Given the description of an element on the screen output the (x, y) to click on. 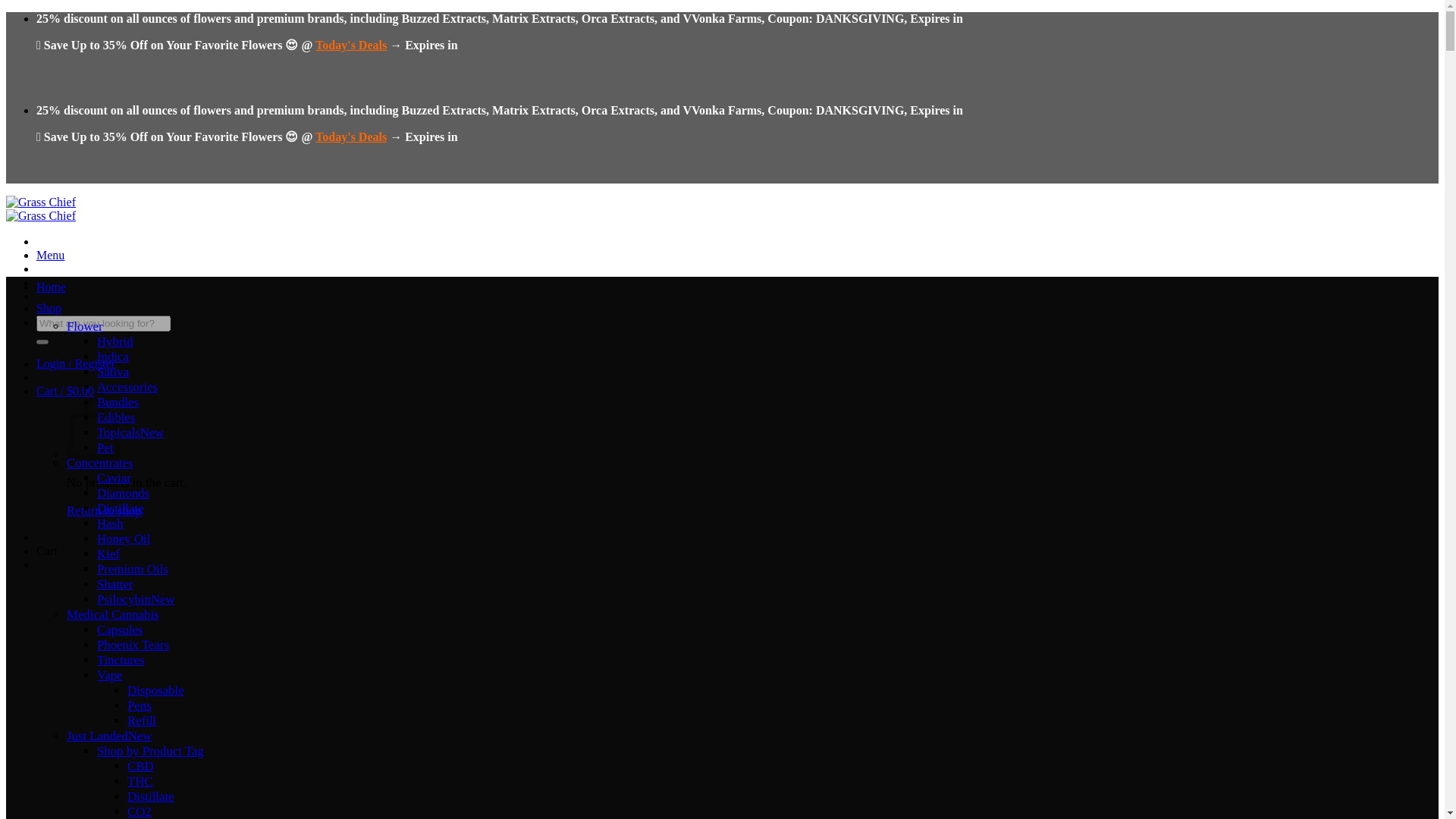
Medical Cannabis (112, 614)
Menu (50, 254)
Capsules (119, 629)
Psilocybin (135, 599)
Pet (105, 447)
Return to shop (103, 510)
Indica (113, 356)
Diamonds (123, 493)
Grass Chief - The Leader in Cannabis Related Resources (40, 208)
Pens (139, 705)
Hybrid (115, 341)
Accessories (127, 386)
Distillate (120, 508)
Concentrates (99, 462)
Today's Deals (351, 44)
